Given the description of an element on the screen output the (x, y) to click on. 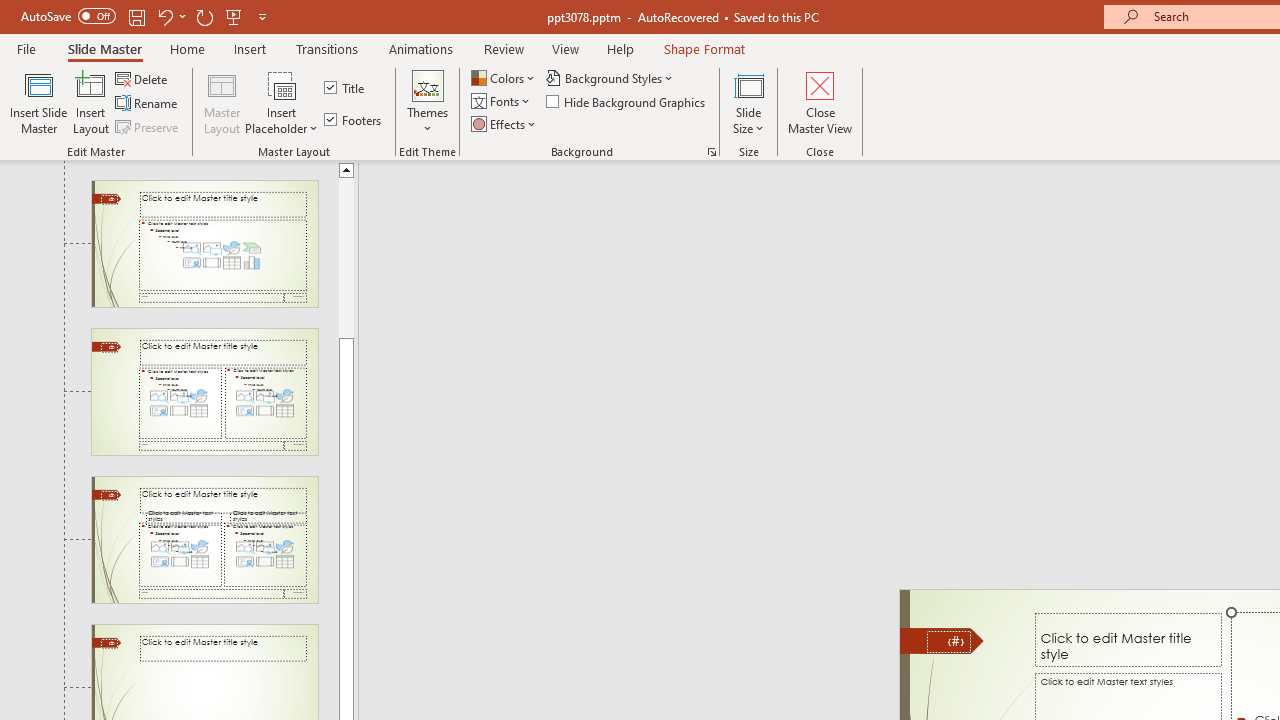
Hide Background Graphics (626, 101)
Fonts (502, 101)
Slide Comparison Layout: used by no slides (204, 539)
Colors (504, 78)
Title TextBox (1128, 639)
Slide Title and Content Layout: used by no slides (204, 243)
Close Master View (820, 102)
Slide Size (749, 102)
